Given the description of an element on the screen output the (x, y) to click on. 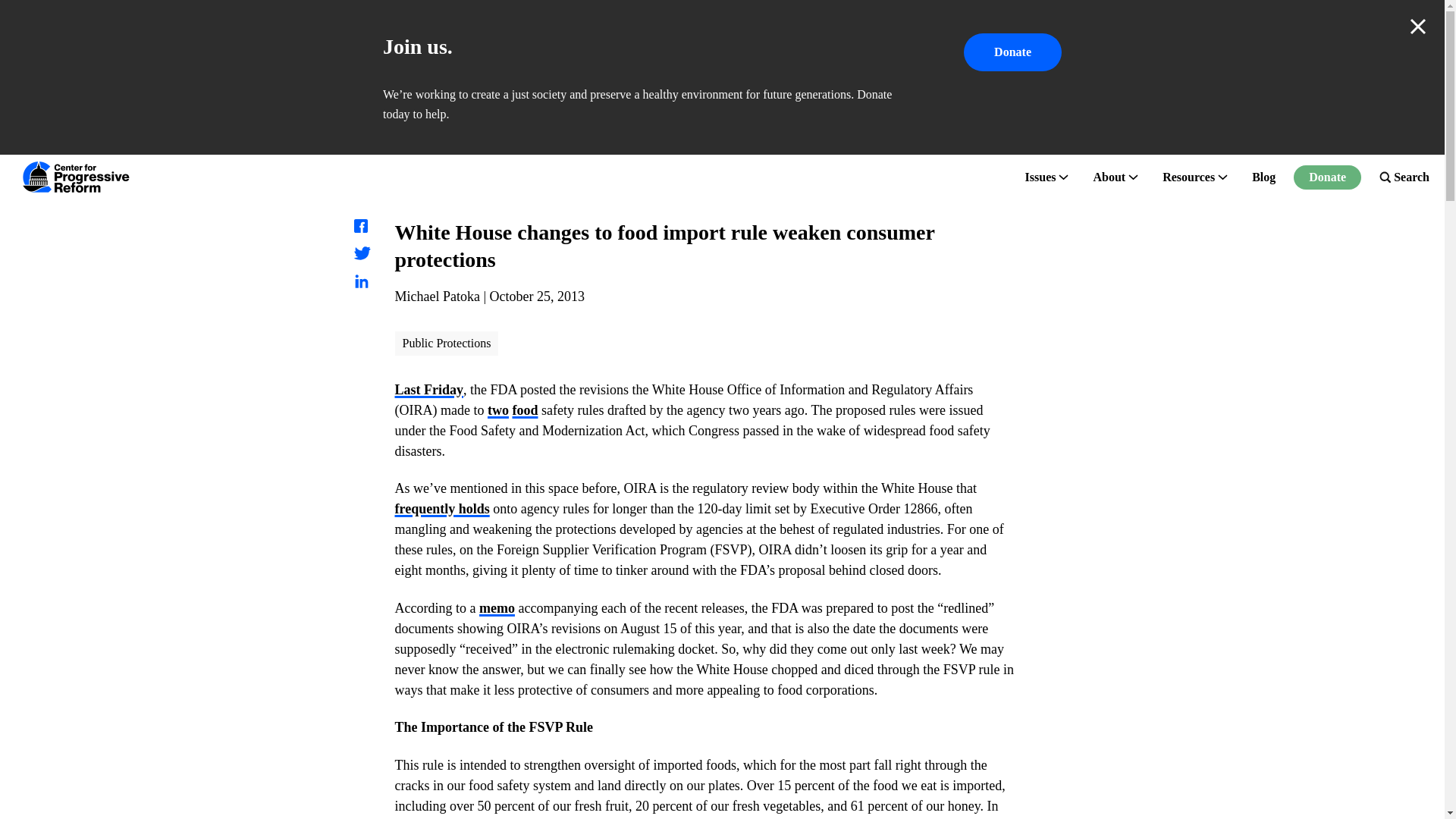
Donate (1012, 52)
About (1109, 177)
Resources (1187, 177)
Close (1417, 26)
Blog (1263, 177)
Search (1403, 177)
Donate (1327, 177)
Issues (1041, 177)
